Given the description of an element on the screen output the (x, y) to click on. 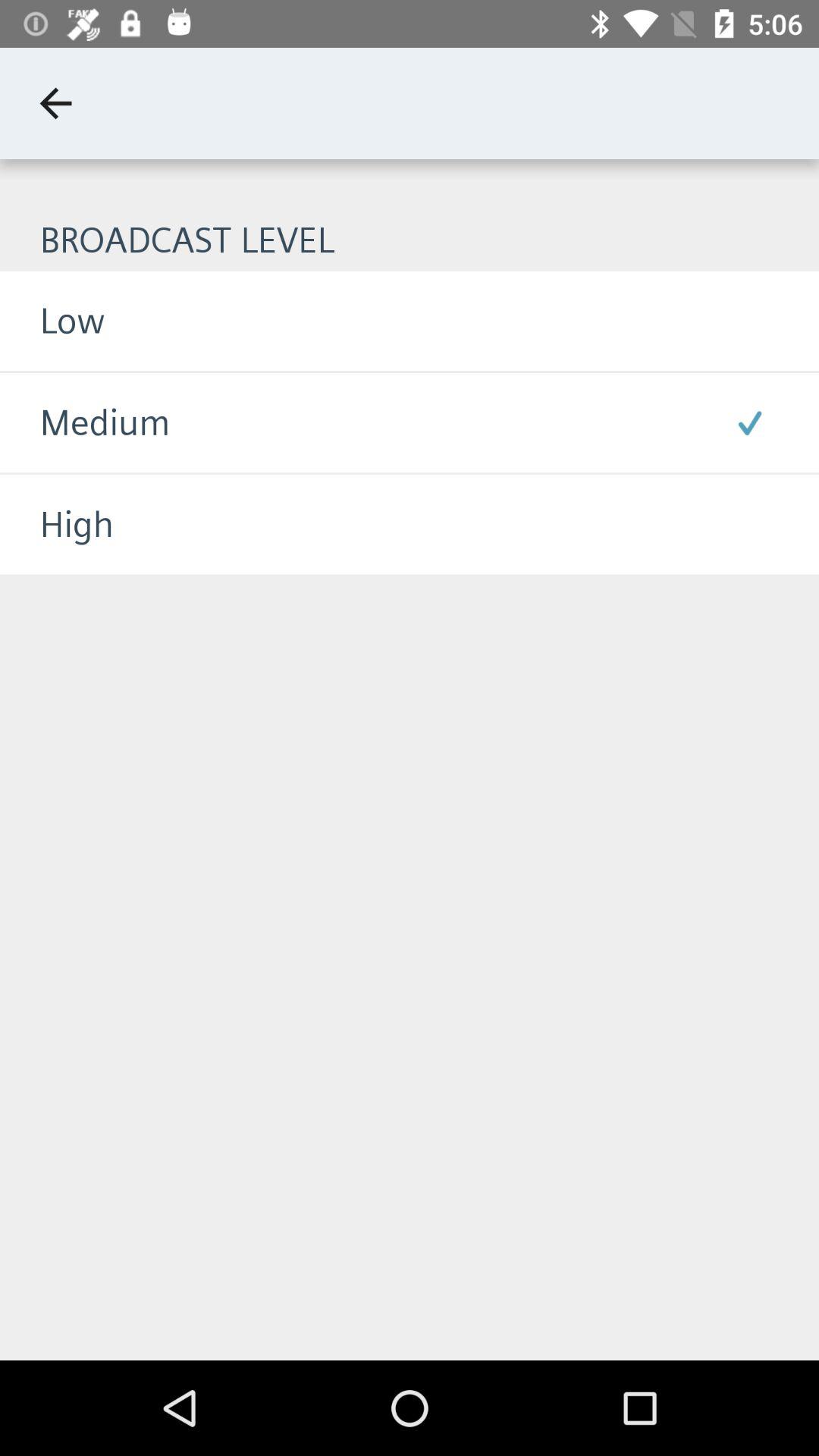
tap the medium icon (85, 422)
